Given the description of an element on the screen output the (x, y) to click on. 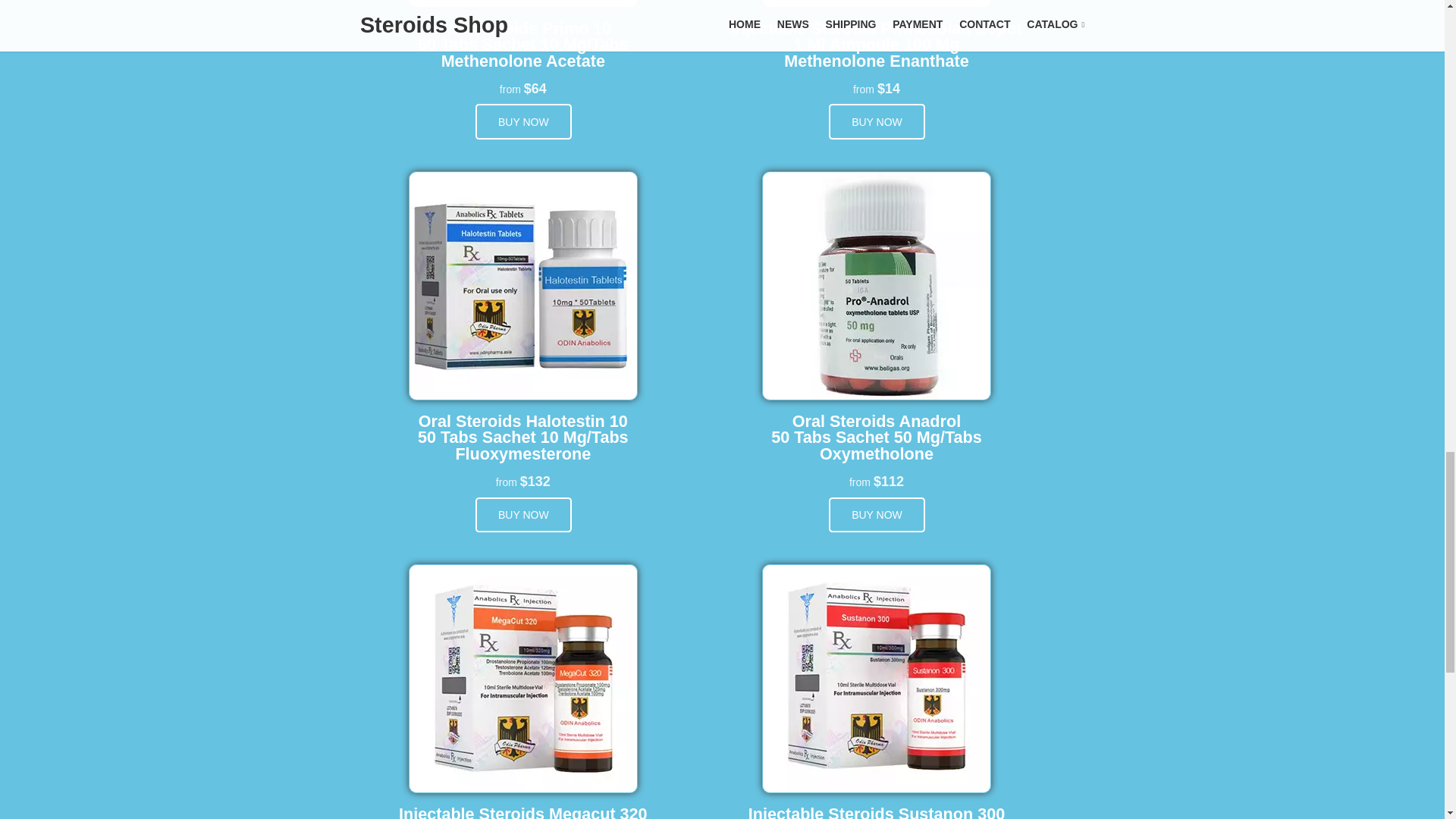
BUY NOW (876, 515)
BUY NOW (524, 515)
BUY NOW (524, 121)
BUY NOW (876, 121)
